Given the description of an element on the screen output the (x, y) to click on. 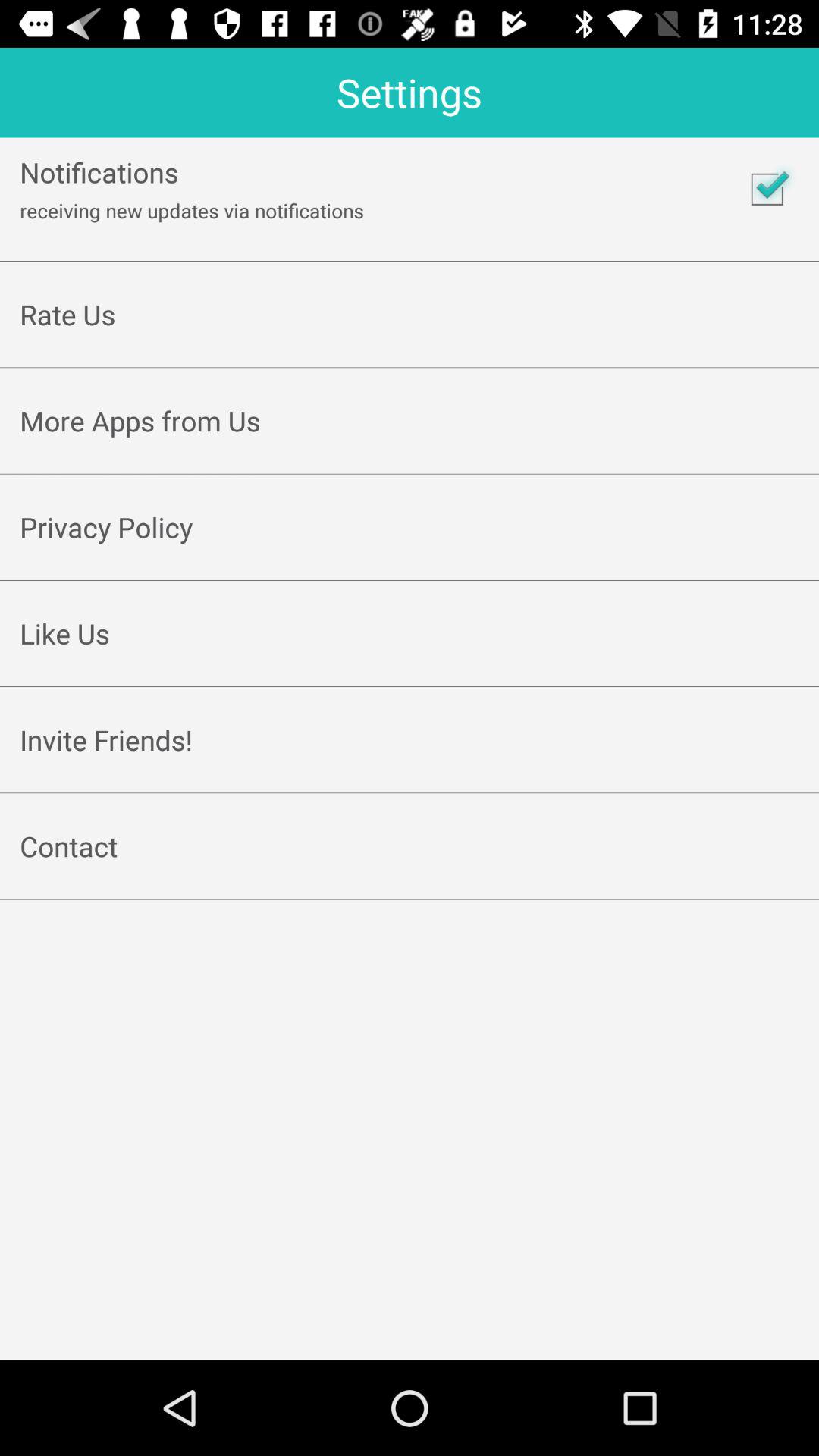
click app below rate us icon (409, 350)
